Given the description of an element on the screen output the (x, y) to click on. 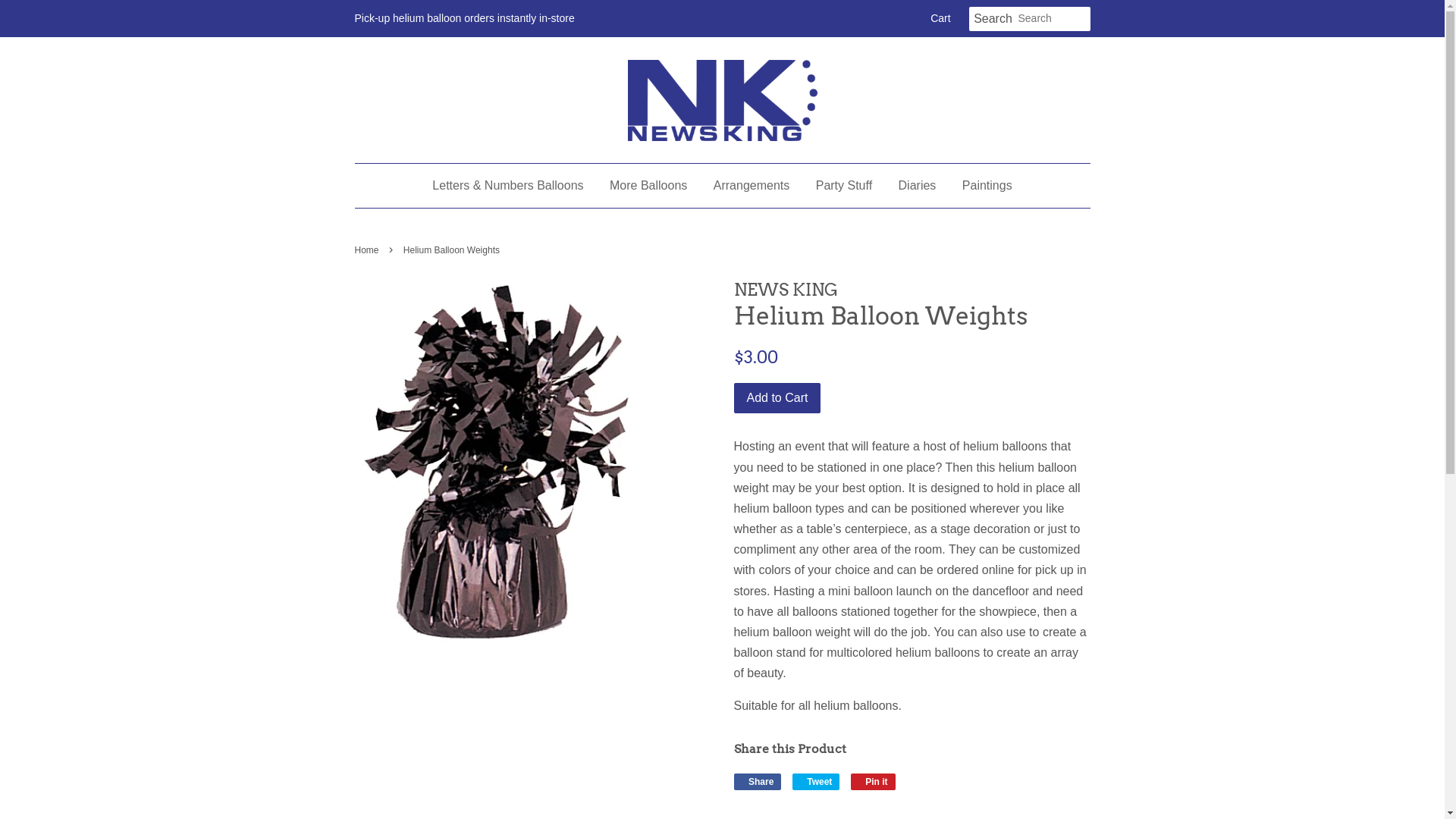
Pin it
Pin on Pinterest Element type: text (872, 781)
Tweet
Tweet on Twitter Element type: text (816, 781)
Home Element type: text (368, 249)
Search Element type: text (993, 18)
Diaries Element type: text (917, 185)
Letters & Numbers Balloons Element type: text (513, 185)
Party Stuff Element type: text (843, 185)
Paintings Element type: text (981, 185)
Pick-up helium balloon orders instantly in-store Element type: text (464, 18)
More Balloons Element type: text (648, 185)
Share
Share on Facebook Element type: text (757, 781)
Cart Element type: text (940, 18)
Arrangements Element type: text (751, 185)
Add to Cart Element type: text (777, 398)
